Given the description of an element on the screen output the (x, y) to click on. 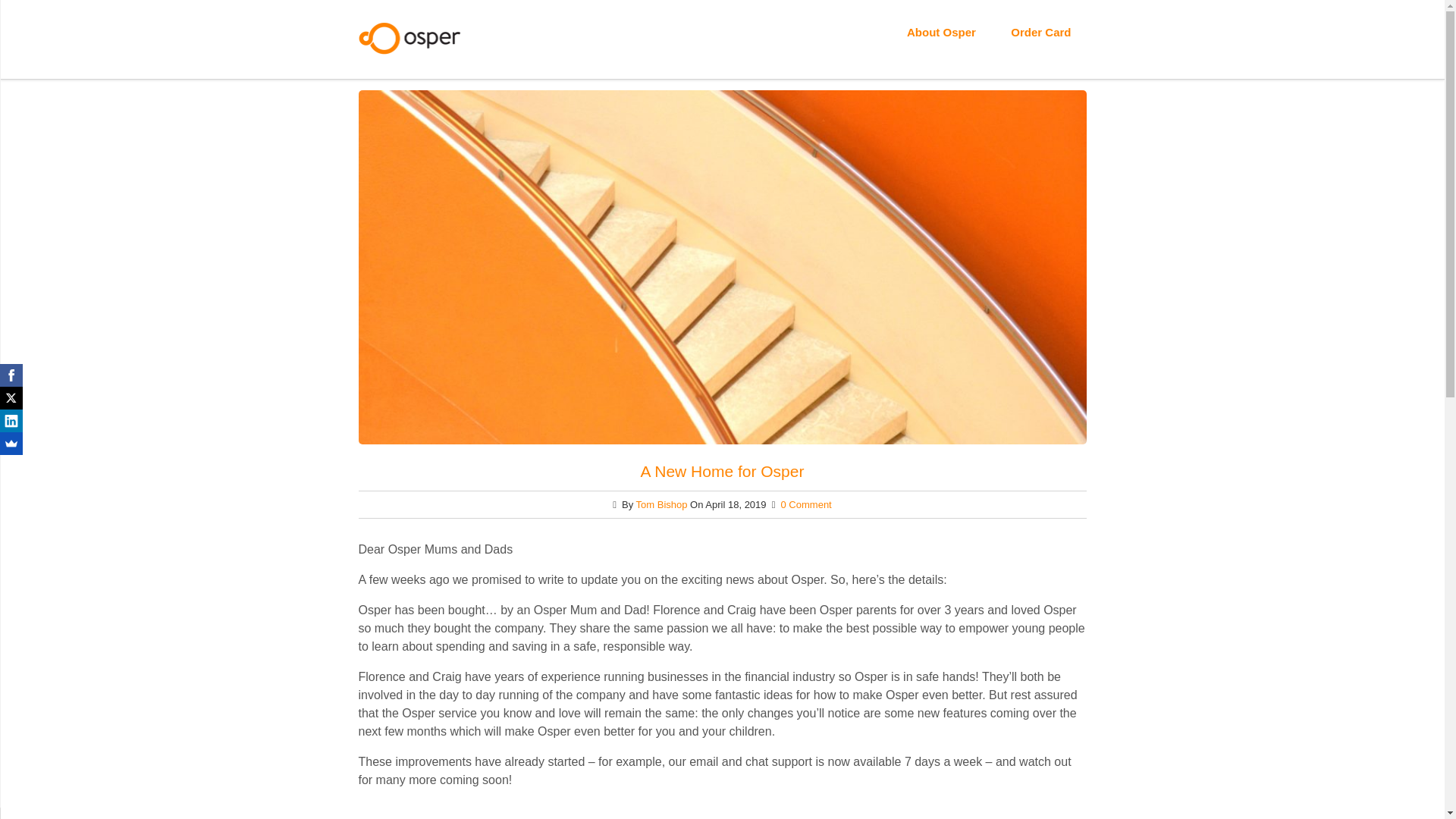
Order Card (1040, 32)
A New Home for Osper (722, 470)
A New Home for Osper (722, 470)
Facebook (11, 374)
LinkedIn (11, 420)
SumoMe (11, 443)
X (11, 397)
0 Comment (805, 504)
About Osper (941, 32)
Tom Bishop (661, 504)
